Given the description of an element on the screen output the (x, y) to click on. 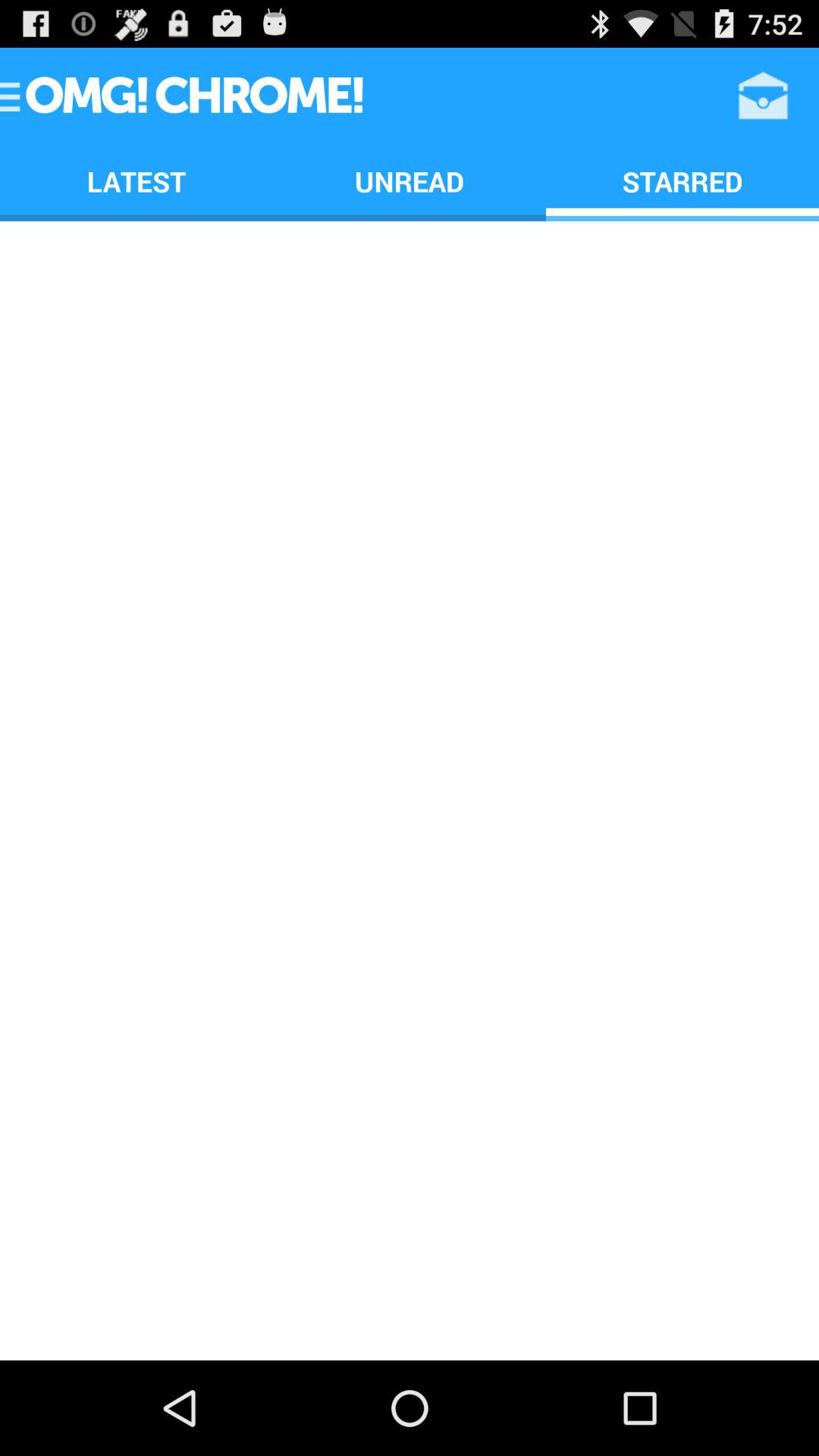
launch the icon to the right of latest item (409, 181)
